Given the description of an element on the screen output the (x, y) to click on. 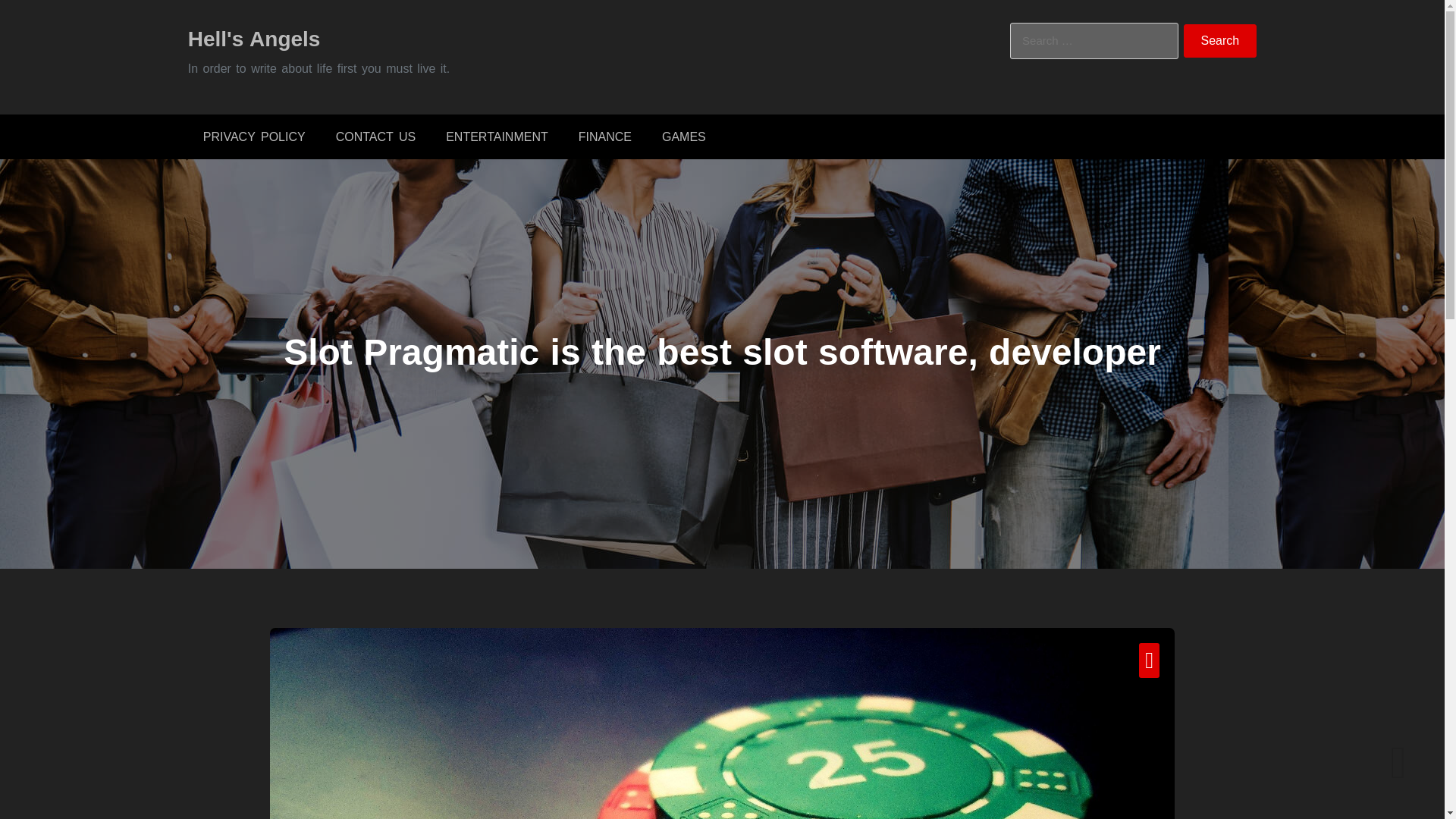
CONTACT US (375, 136)
GAMES (683, 136)
Search (1220, 40)
Search (1220, 40)
Hell's Angels (253, 38)
ENTERTAINMENT (496, 136)
FINANCE (604, 136)
PRIVACY POLICY (253, 136)
Search (1220, 40)
